Given the description of an element on the screen output the (x, y) to click on. 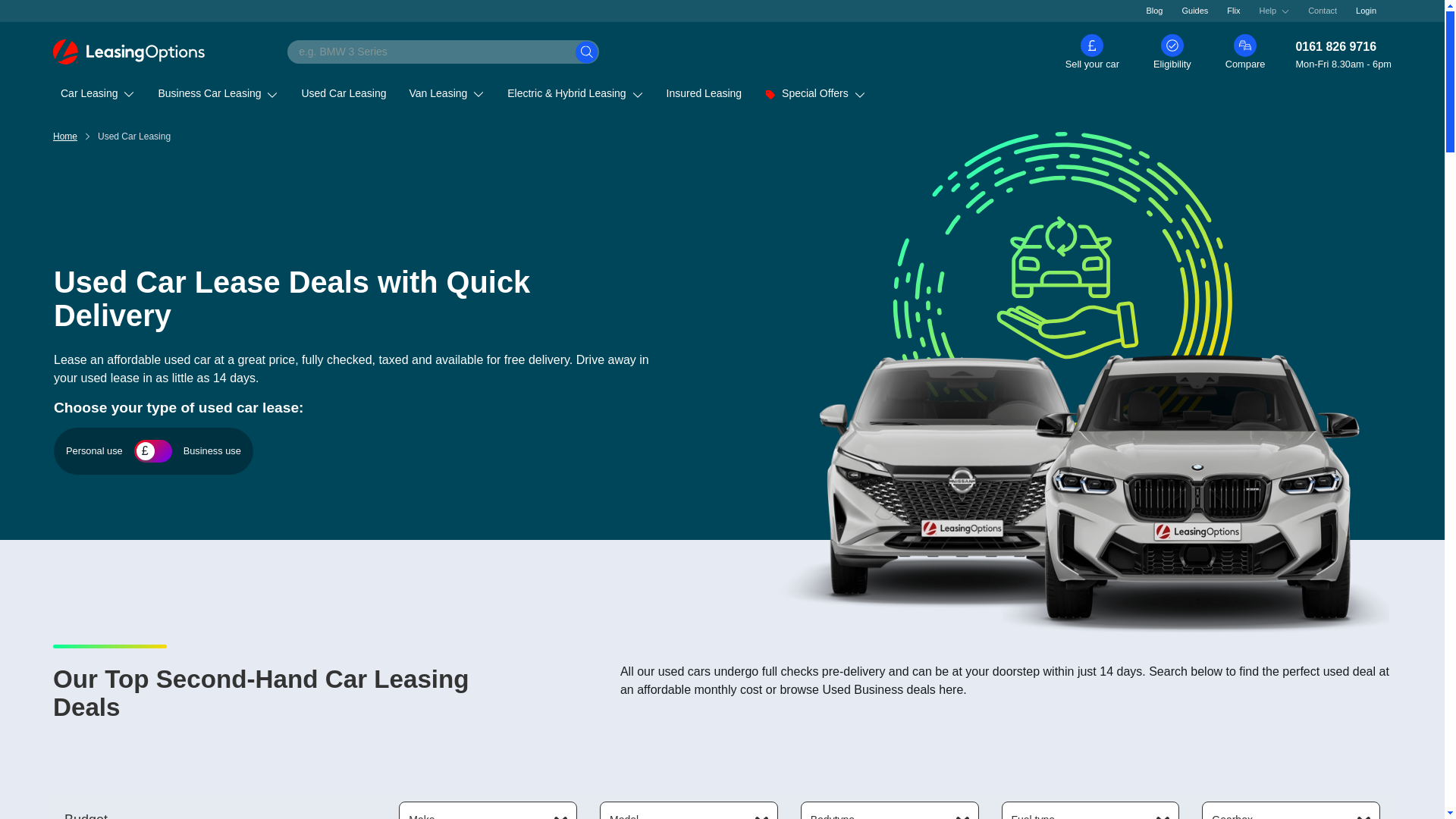
Eligibility (1171, 51)
Blog (1153, 10)
Sell your car (1092, 51)
0161 826 9716 (1343, 46)
Flix (1233, 10)
Guides (1194, 10)
Contact (1322, 10)
Return To Homepage (128, 51)
Login (1366, 10)
Car Leasing (96, 93)
Compare (1245, 51)
Help (1273, 10)
